Given the description of an element on the screen output the (x, y) to click on. 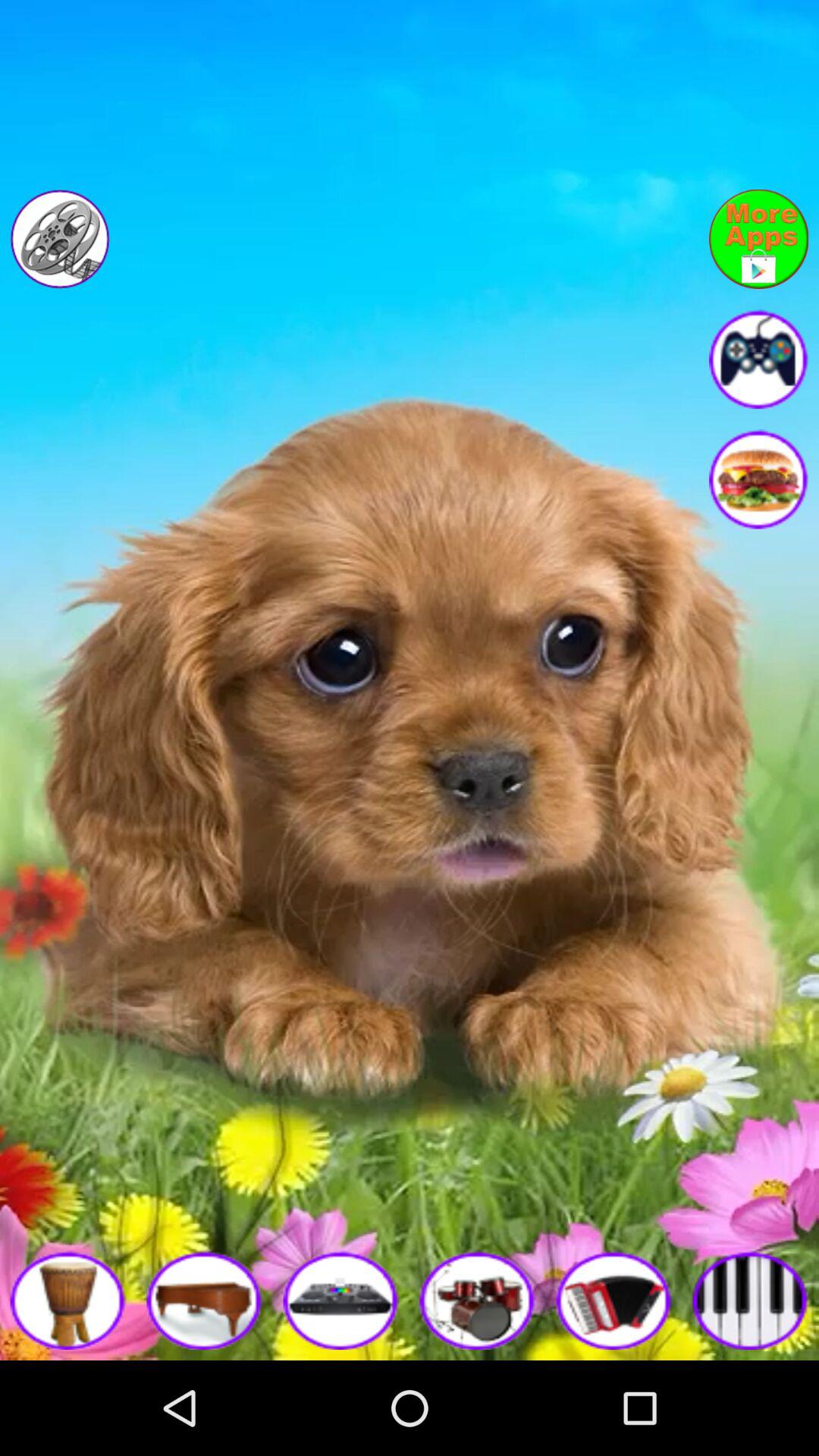
go to movies (59, 238)
